Given the description of an element on the screen output the (x, y) to click on. 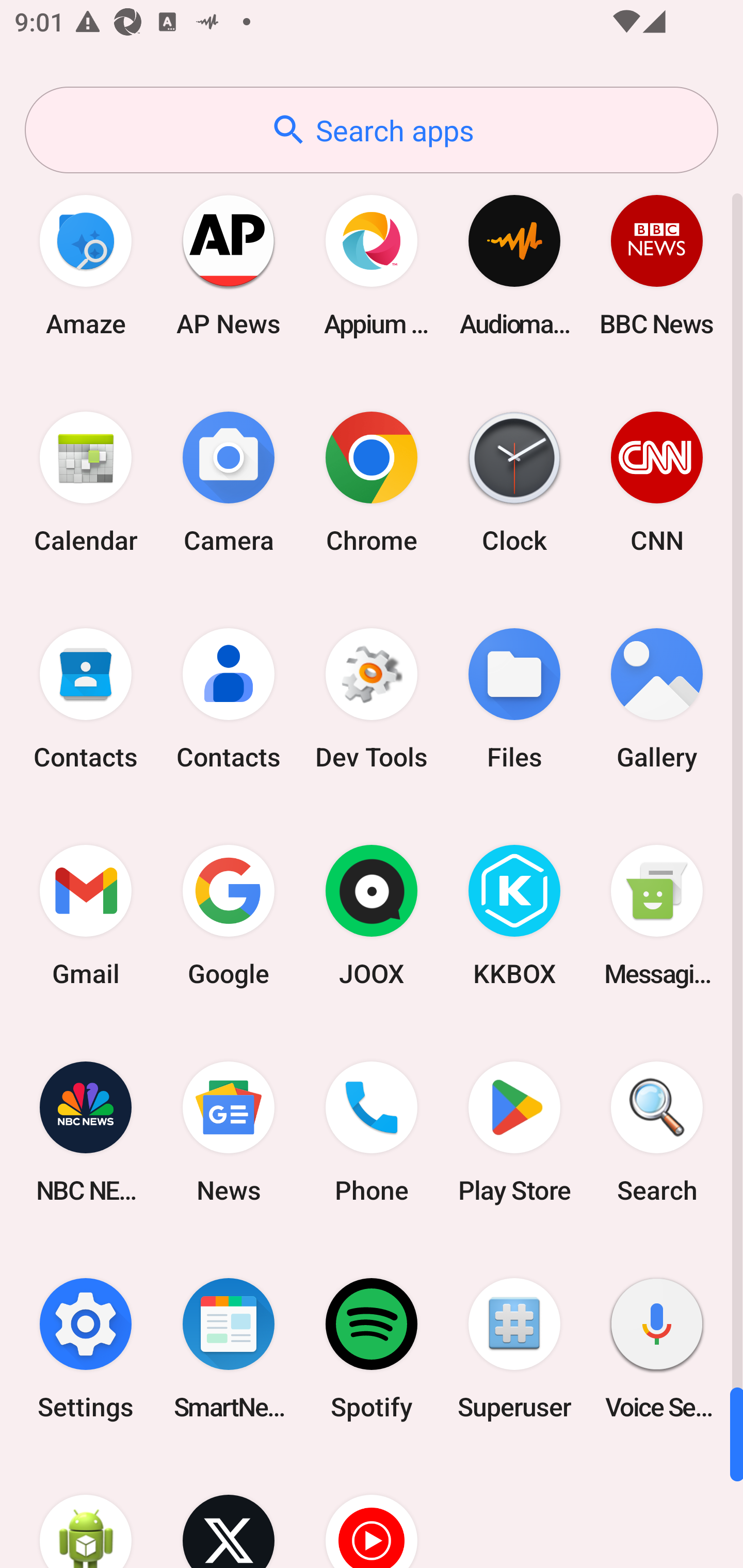
  Search apps (371, 130)
Amaze (85, 264)
AP News (228, 264)
Appium Settings (371, 264)
Audio­mack (514, 264)
BBC News (656, 264)
Calendar (85, 482)
Camera (228, 482)
Chrome (371, 482)
Clock (514, 482)
CNN (656, 482)
Contacts (85, 699)
Contacts (228, 699)
Dev Tools (371, 699)
Files (514, 699)
Gallery (656, 699)
Gmail (85, 915)
Google (228, 915)
JOOX (371, 915)
KKBOX (514, 915)
Messaging (656, 915)
NBC NEWS (85, 1131)
News (228, 1131)
Phone (371, 1131)
Play Store (514, 1131)
Search (656, 1131)
Settings (85, 1348)
SmartNews (228, 1348)
Spotify (371, 1348)
Superuser (514, 1348)
Voice Search (656, 1348)
